Given the description of an element on the screen output the (x, y) to click on. 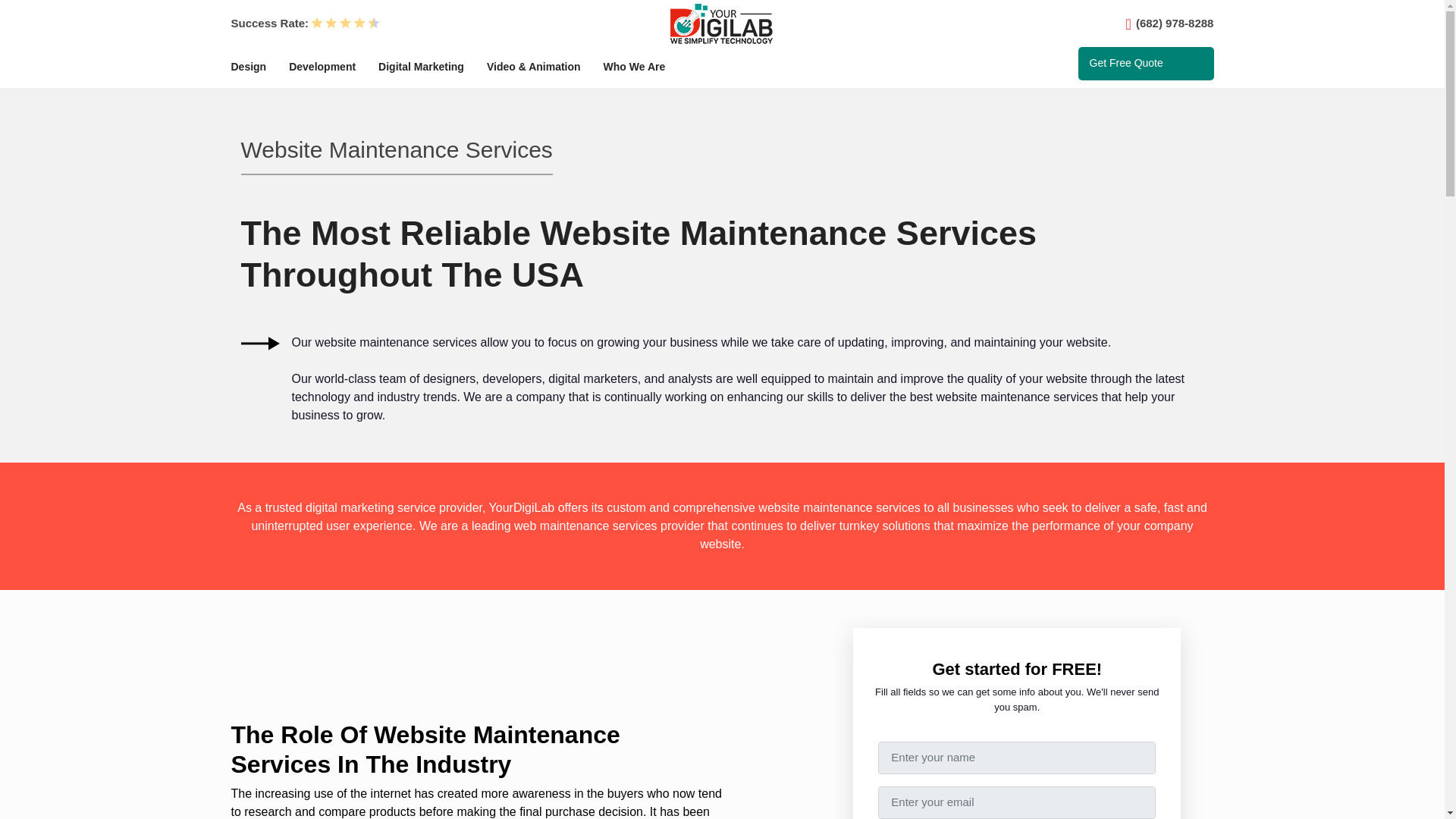
Design (248, 71)
Development (321, 71)
